Given the description of an element on the screen output the (x, y) to click on. 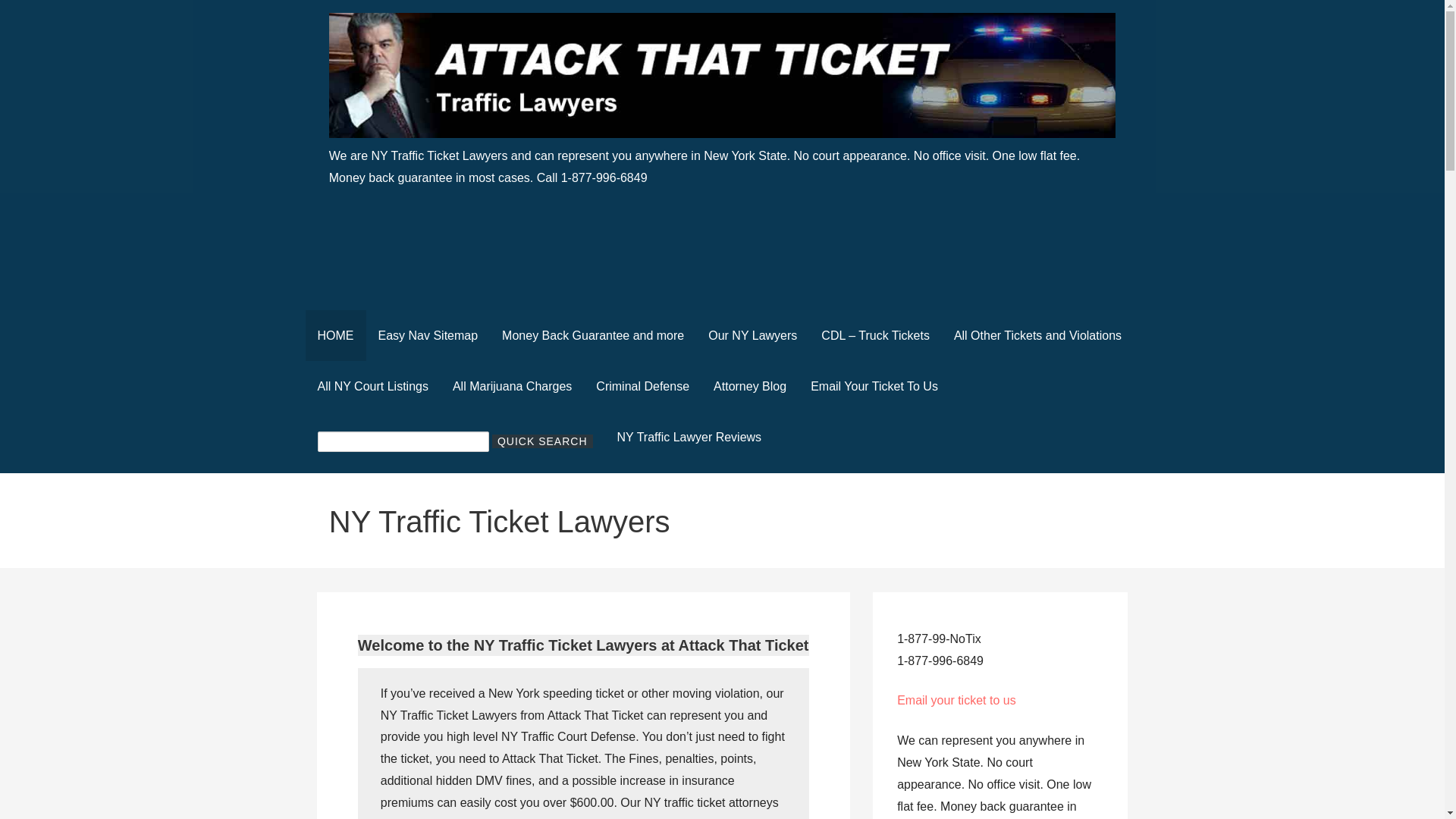
Easy Nav Sitemap (427, 335)
Money Back Guarantee and more (592, 335)
Quick Search (542, 440)
Our NY Lawyers (752, 335)
HOME (334, 335)
All Other Tickets and Violations (1038, 335)
Attack That Ticket - NY Traffic Court Defense (570, 164)
